Given the description of an element on the screen output the (x, y) to click on. 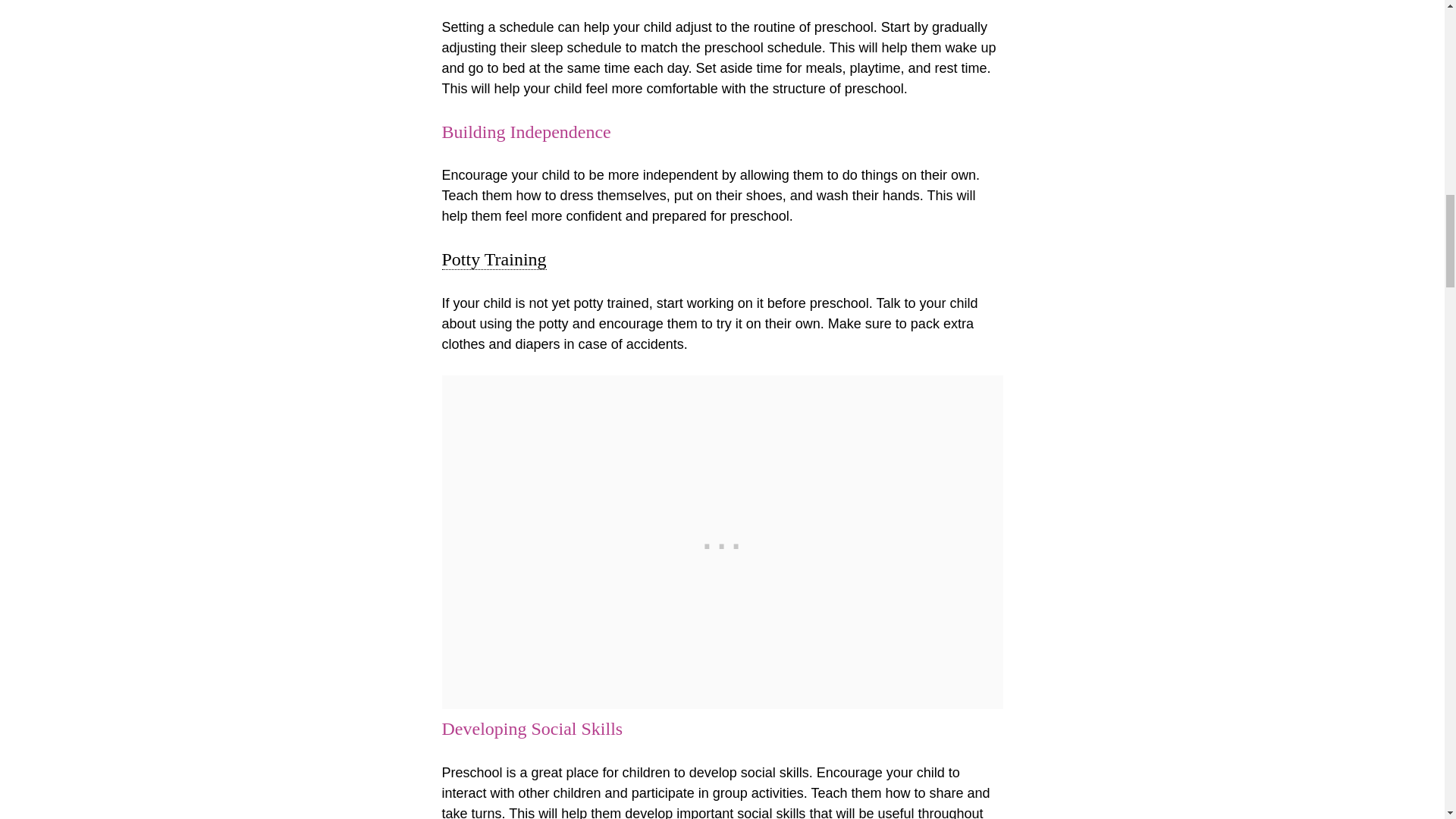
Potty Training (493, 259)
